Given the description of an element on the screen output the (x, y) to click on. 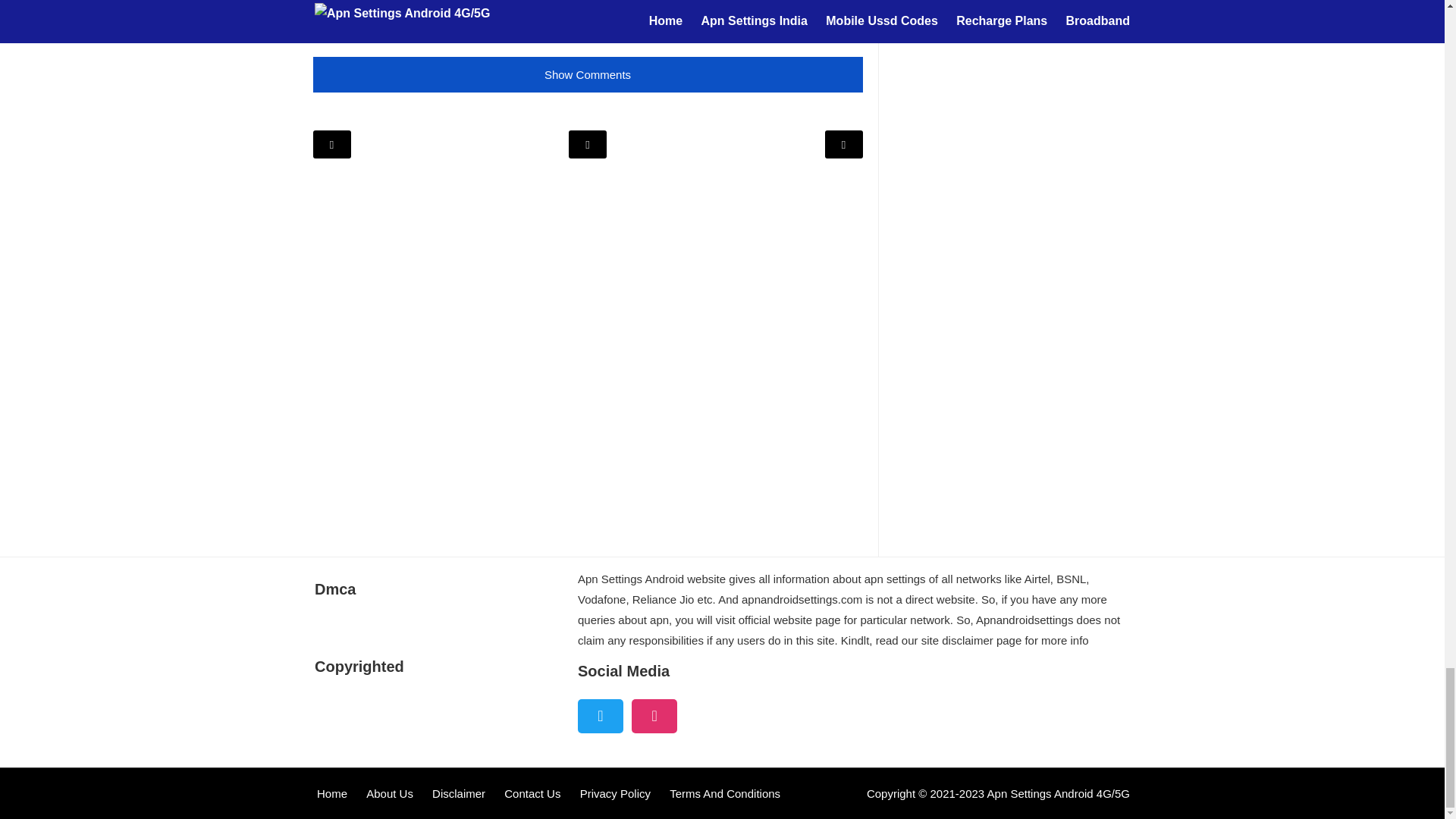
Author Profile (350, 10)
